Given the description of an element on the screen output the (x, y) to click on. 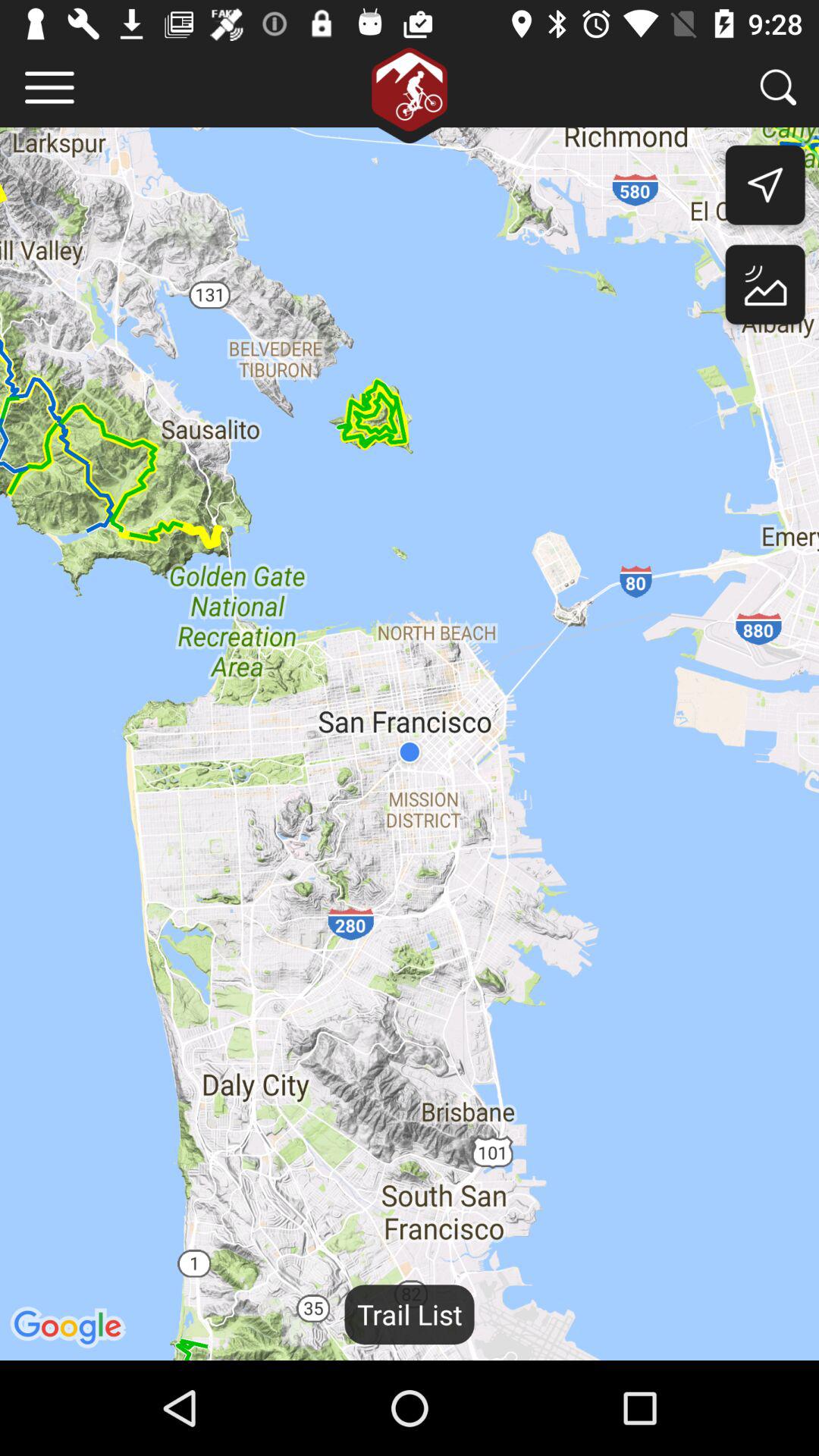
show more data (49, 87)
